Given the description of an element on the screen output the (x, y) to click on. 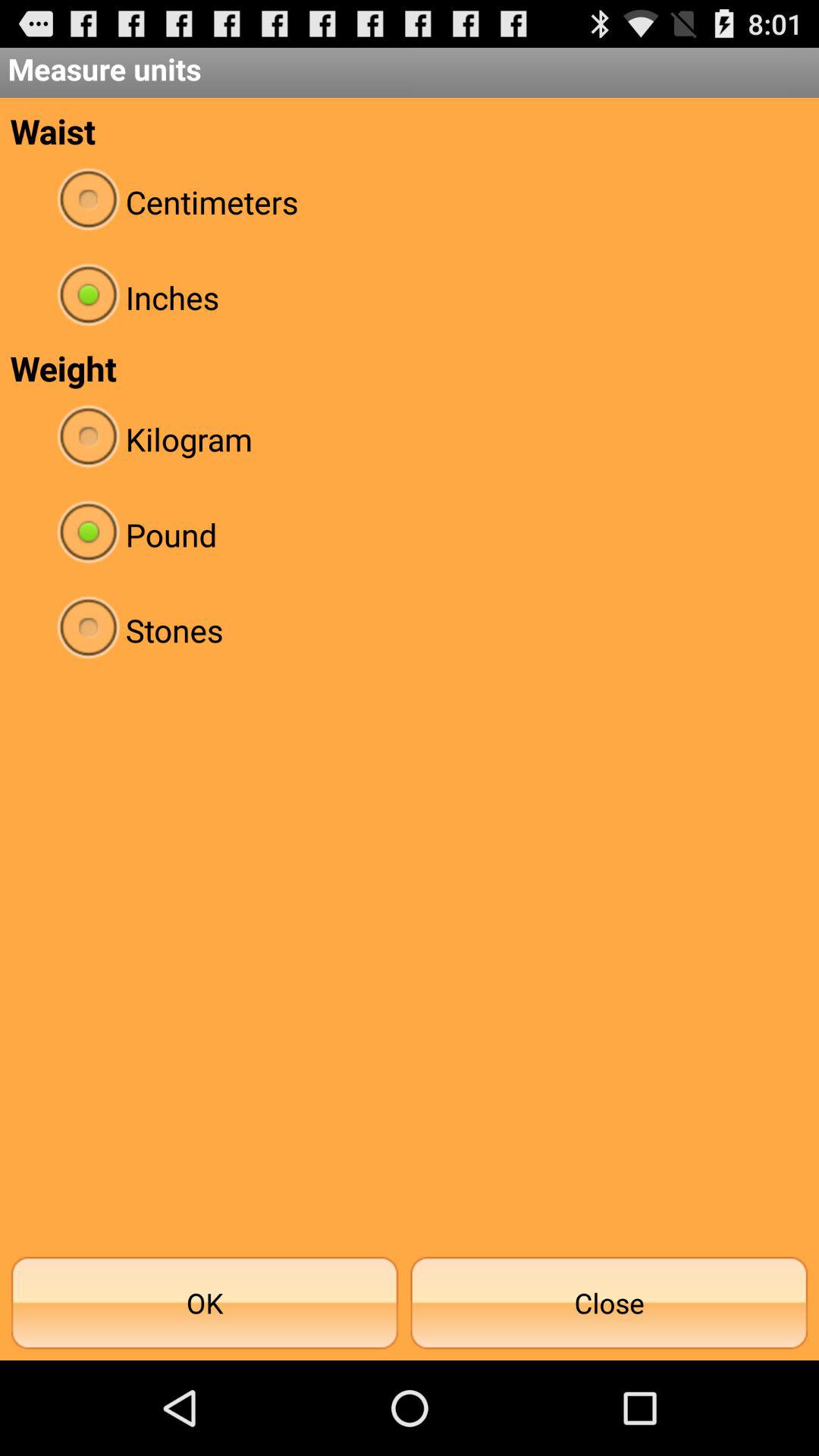
choose icon to the right of the ok icon (608, 1302)
